Given the description of an element on the screen output the (x, y) to click on. 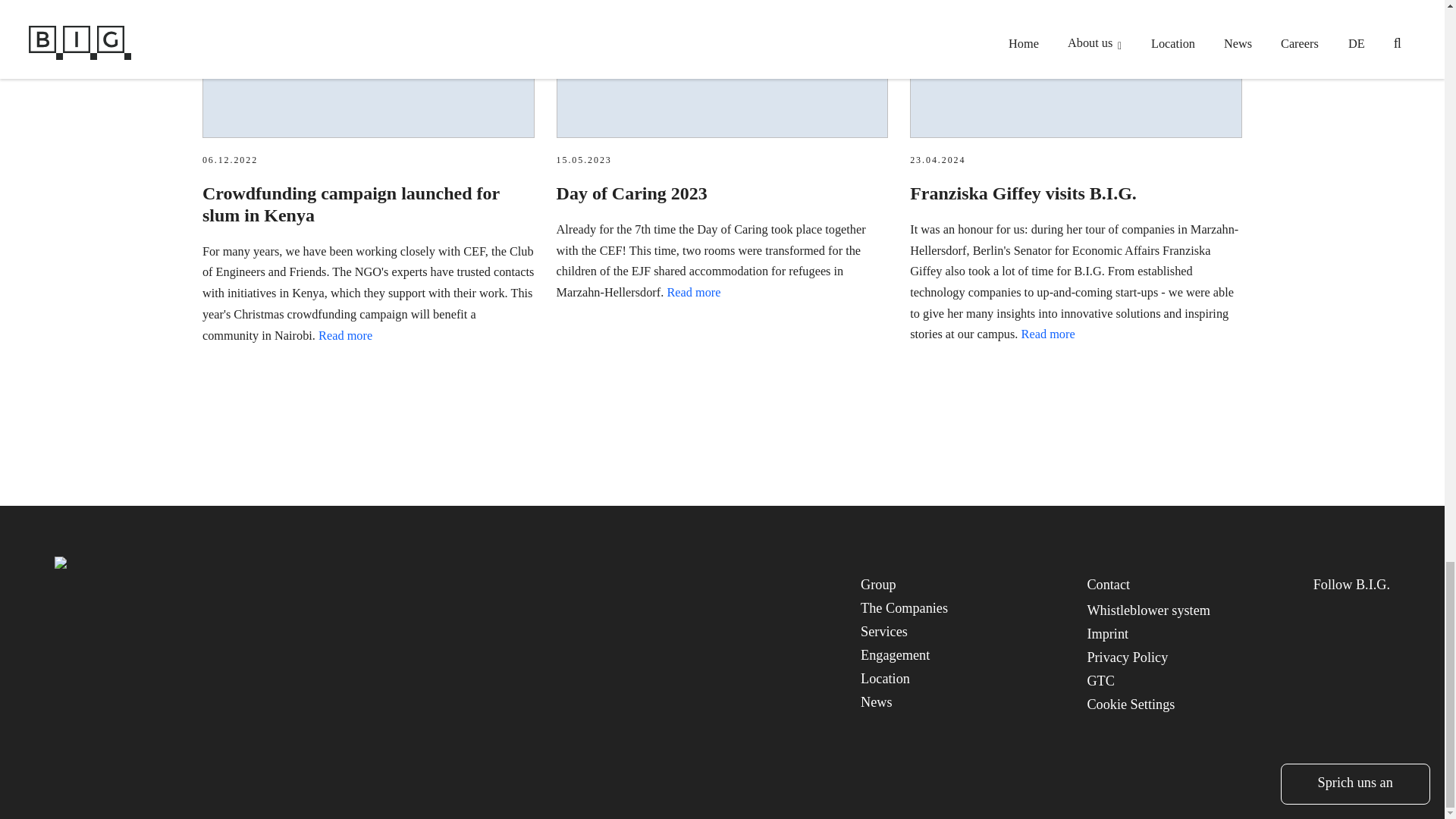
Services (883, 631)
Engagement (895, 654)
News (876, 702)
Location (885, 678)
The Companies (903, 607)
Group (878, 584)
